Given the description of an element on the screen output the (x, y) to click on. 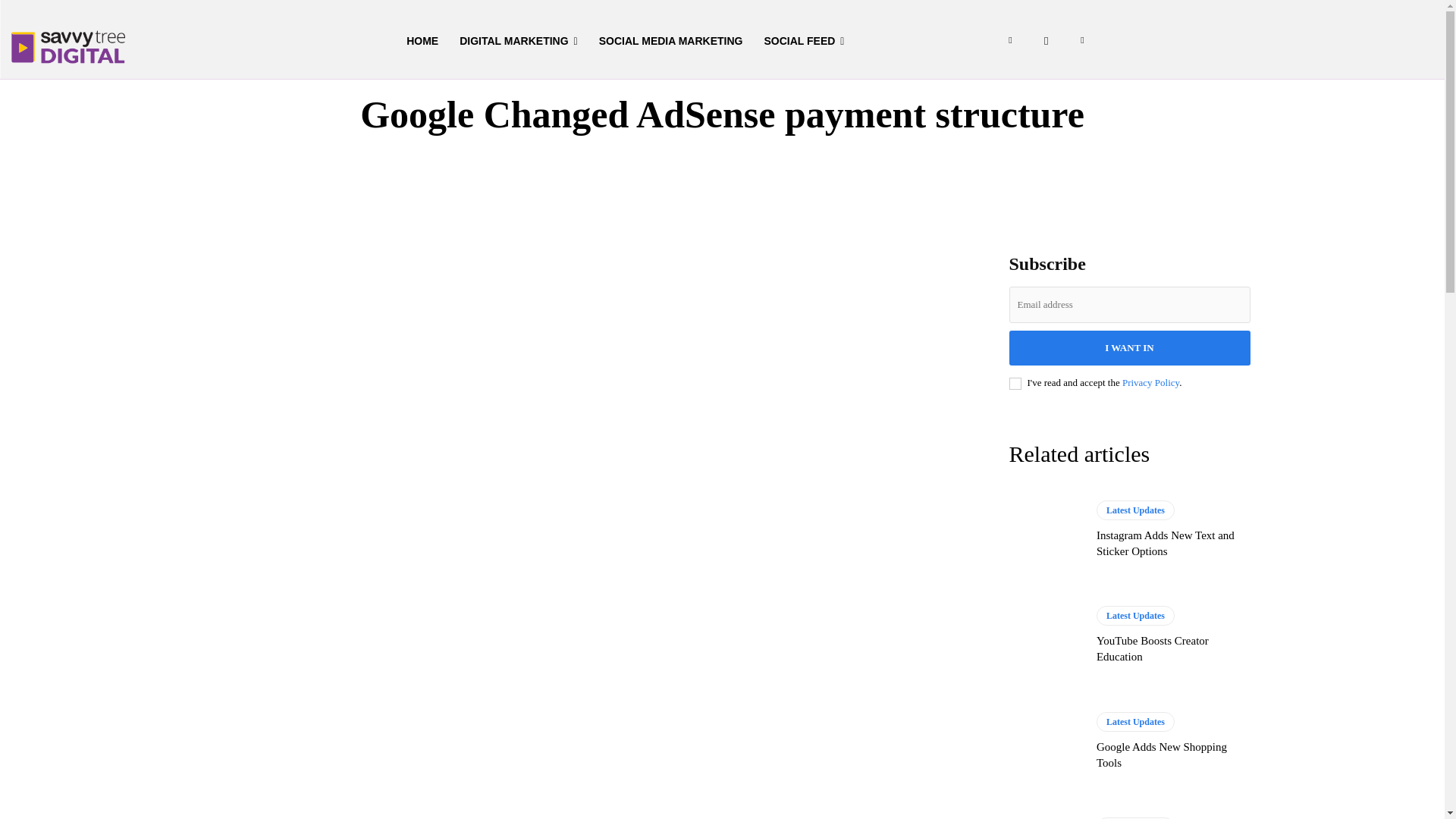
Instagram (1046, 40)
Linkedin (1010, 40)
Privacy Policy (1150, 382)
SavvyTree Digital - Learn Digital Marketing Online (68, 46)
SOCIAL FEED (803, 40)
HOME (422, 40)
Instagram Adds New Text and Sticker Options (1165, 543)
SOCIAL MEDIA MARKETING (671, 40)
I WANT IN (1129, 347)
LATEST UPDATES (721, 64)
